Given the description of an element on the screen output the (x, y) to click on. 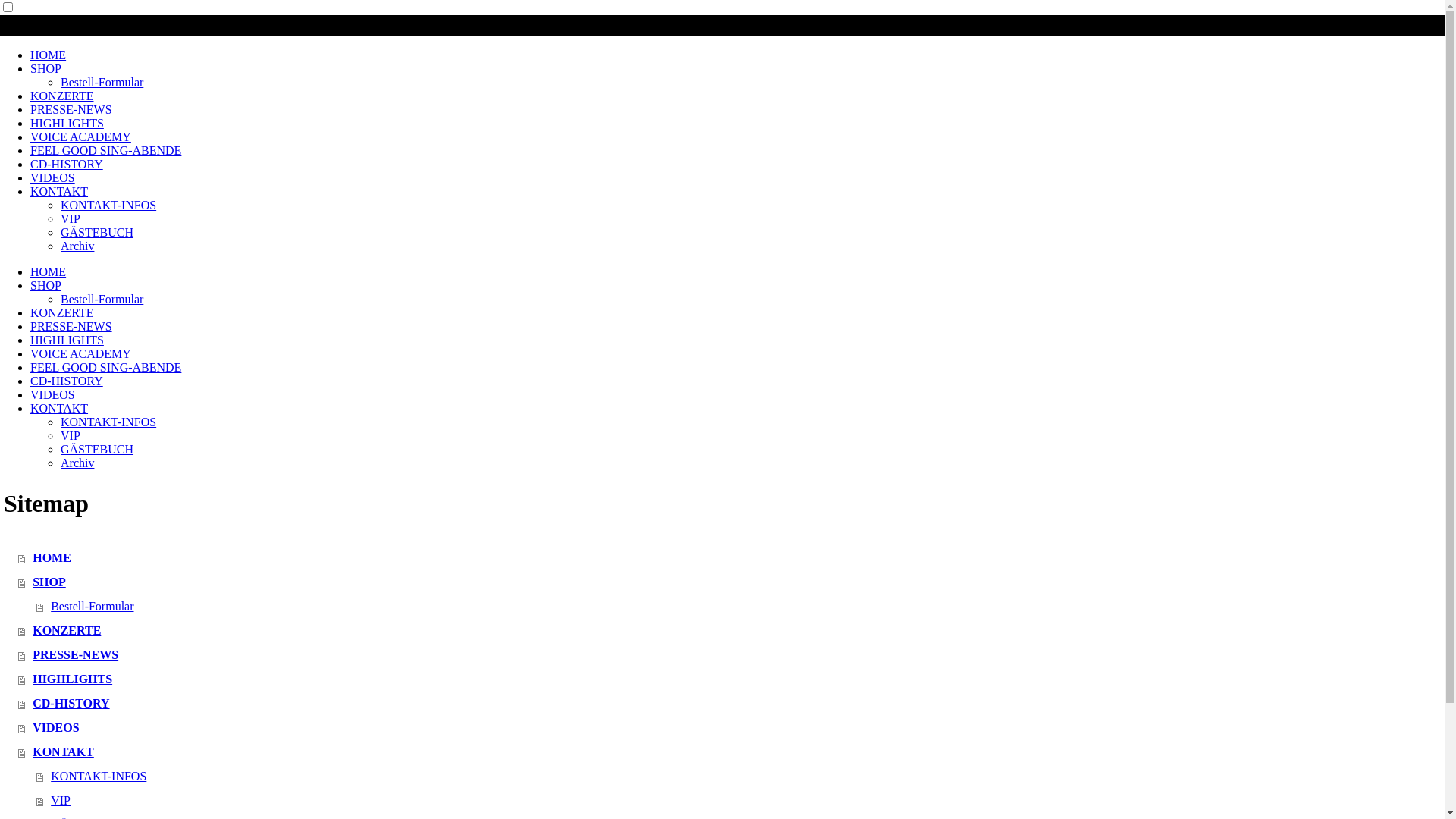
PRESSE-NEWS Element type: text (71, 109)
KONZERTE Element type: text (731, 630)
KONTAKT Element type: text (58, 407)
VIDEOS Element type: text (52, 177)
Bestell-Formular Element type: text (101, 81)
SHOP Element type: text (45, 285)
VIDEOS Element type: text (731, 727)
HOME Element type: text (47, 271)
CD-HISTORY Element type: text (66, 380)
FEEL GOOD SING-ABENDE Element type: text (105, 366)
FEEL GOOD SING-ABENDE Element type: text (105, 150)
VOICE ACADEMY Element type: text (80, 353)
HOME Element type: text (47, 54)
KONTAKT-INFOS Element type: text (740, 776)
KONTAKT-INFOS Element type: text (108, 204)
CD-HISTORY Element type: text (66, 163)
HIGHLIGHTS Element type: text (66, 339)
PRESSE-NEWS Element type: text (71, 326)
VOICE ACADEMY Element type: text (80, 136)
VIP Element type: text (70, 435)
SHOP Element type: text (731, 582)
Bestell-Formular Element type: text (740, 606)
KONZERTE Element type: text (61, 312)
Bestell-Formular Element type: text (101, 298)
KONZERTE Element type: text (61, 95)
VIP Element type: text (70, 218)
Archiv Element type: text (77, 245)
HIGHLIGHTS Element type: text (66, 122)
VIP Element type: text (740, 800)
Archiv Element type: text (77, 462)
KONTAKT Element type: text (731, 752)
HOME Element type: text (731, 558)
KONTAKT-INFOS Element type: text (108, 421)
CD-HISTORY Element type: text (731, 703)
PRESSE-NEWS Element type: text (731, 655)
SHOP Element type: text (45, 68)
HIGHLIGHTS Element type: text (731, 679)
KONTAKT Element type: text (58, 191)
VIDEOS Element type: text (52, 394)
